Given the description of an element on the screen output the (x, y) to click on. 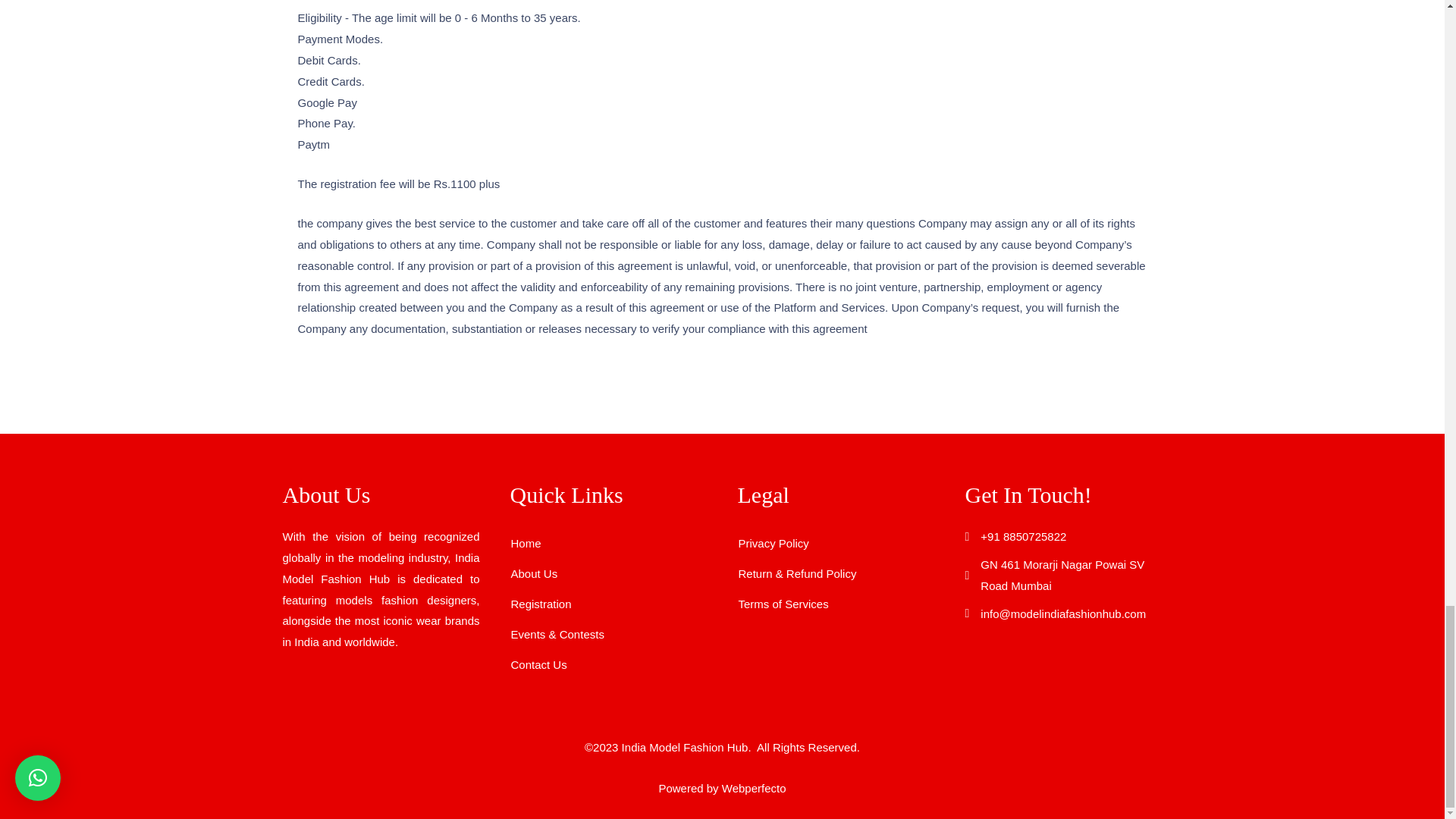
Registration (603, 603)
Webperfecto (754, 788)
Terms of Services (830, 603)
Privacy Policy (830, 542)
Contact Us (603, 664)
Home (603, 542)
About Us (603, 573)
